Given the description of an element on the screen output the (x, y) to click on. 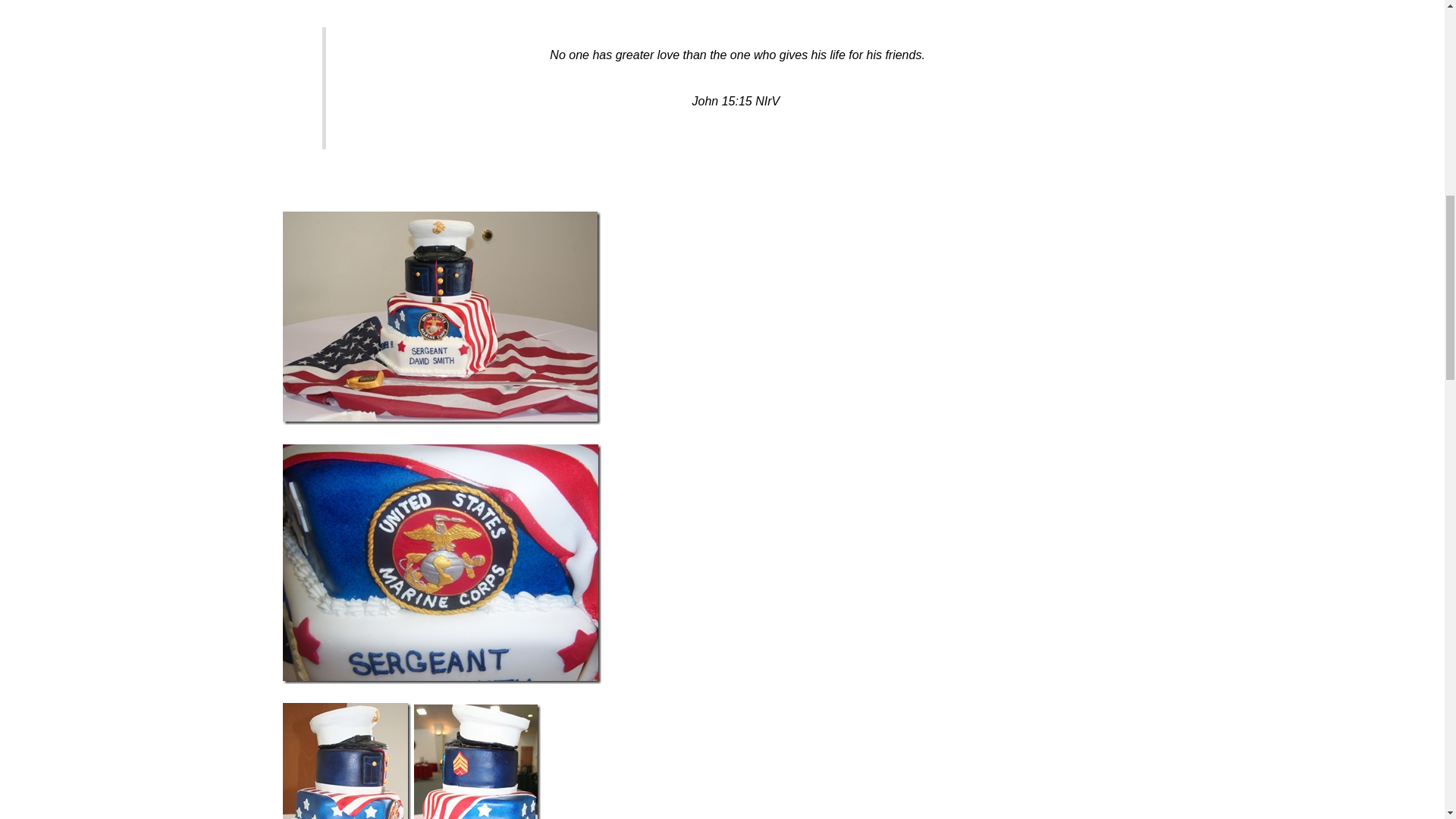
Memorial Day Cake (440, 318)
Memorial Day Cake (440, 563)
Memorial Day Cake (476, 761)
Memorial Day Cake (346, 760)
